Given the description of an element on the screen output the (x, y) to click on. 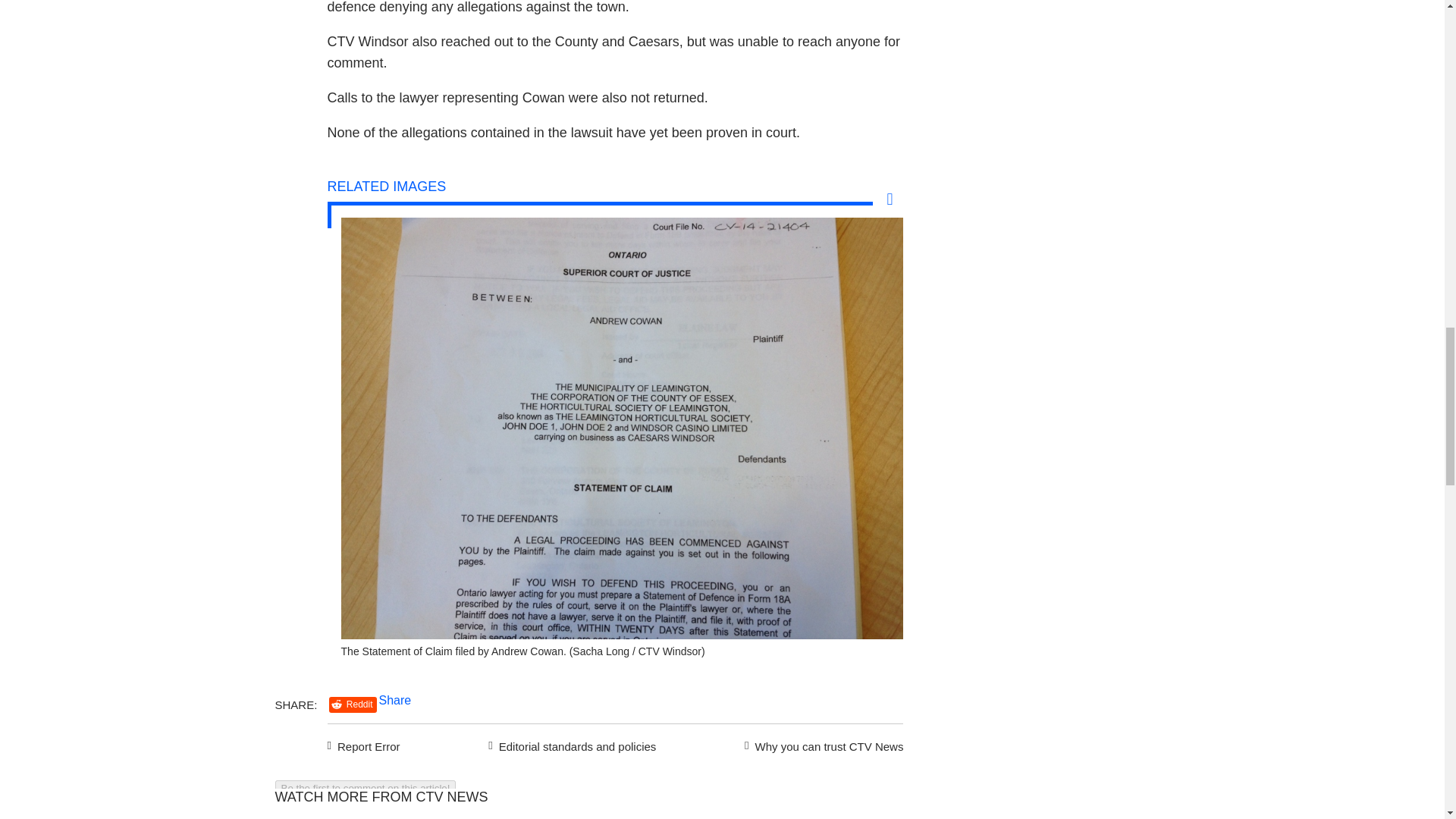
Cowan statement of claim (622, 634)
Why you can trust CTV News (820, 744)
Share (395, 699)
Be the first to comment on this article! (365, 788)
Reddit (353, 704)
Report Error (363, 744)
Editorial standards and policies (569, 744)
